Given the description of an element on the screen output the (x, y) to click on. 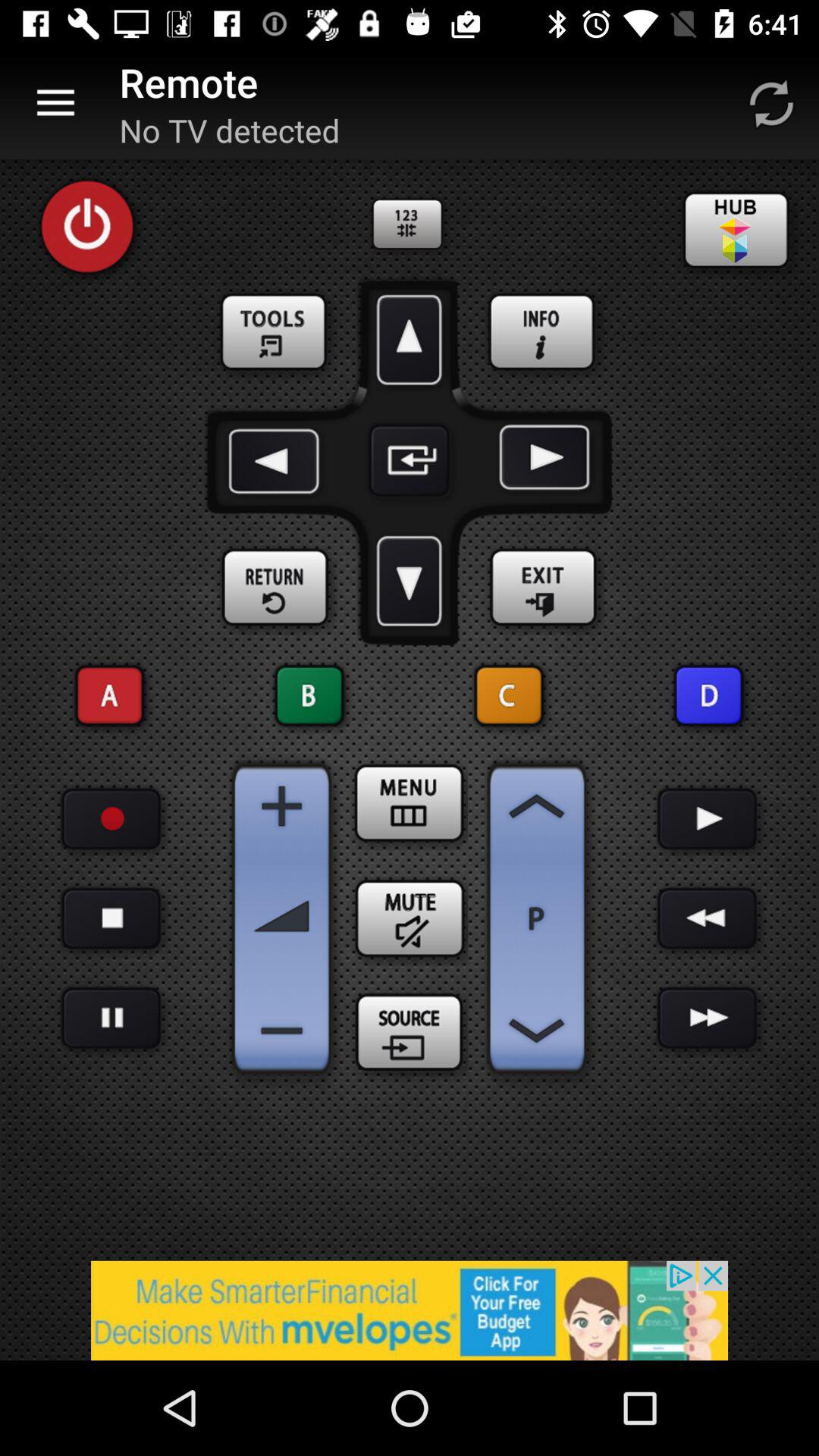
open advertisement (409, 1310)
